Given the description of an element on the screen output the (x, y) to click on. 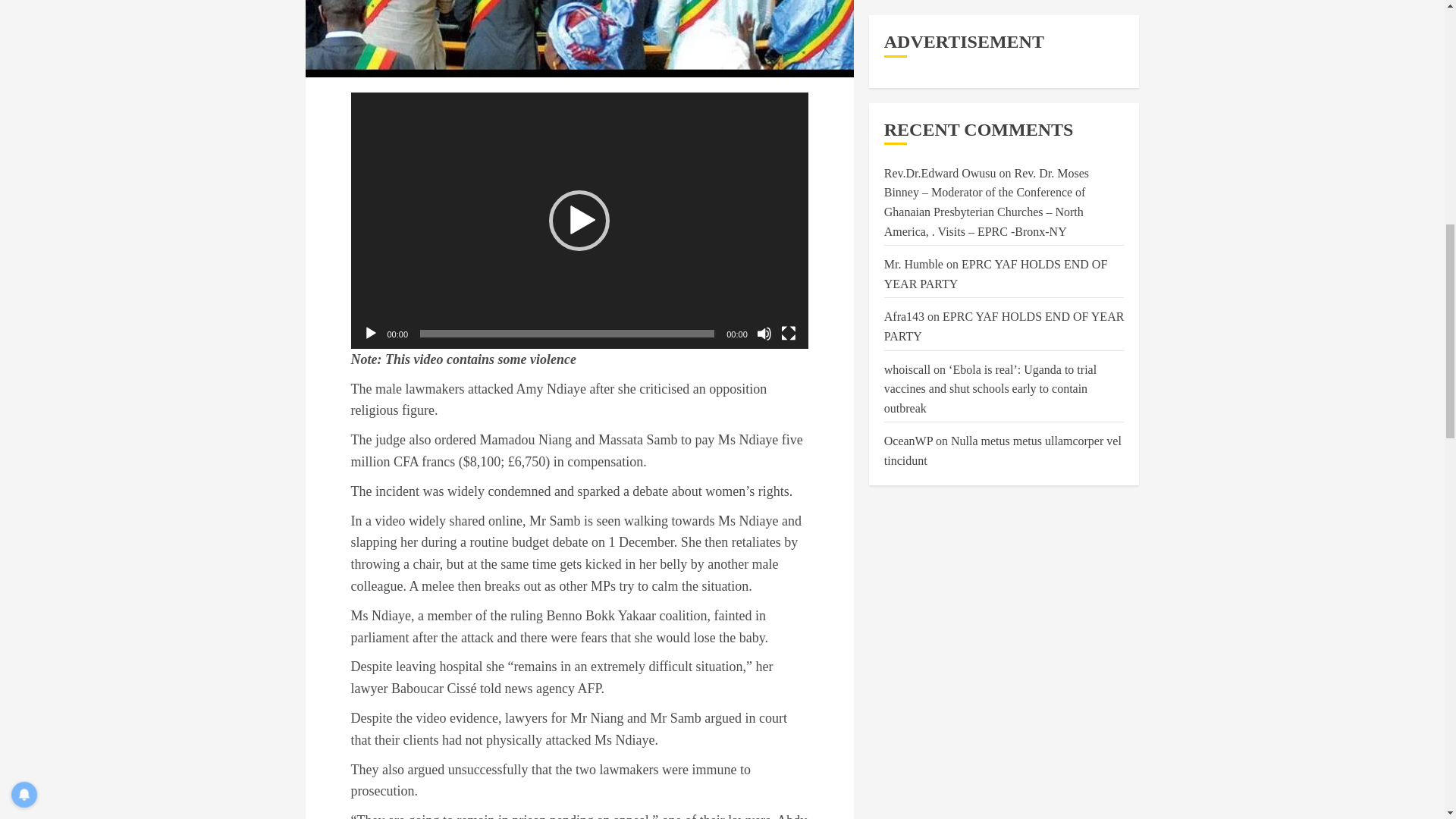
Mute (764, 333)
Play (369, 333)
Fullscreen (788, 333)
